Given the description of an element on the screen output the (x, y) to click on. 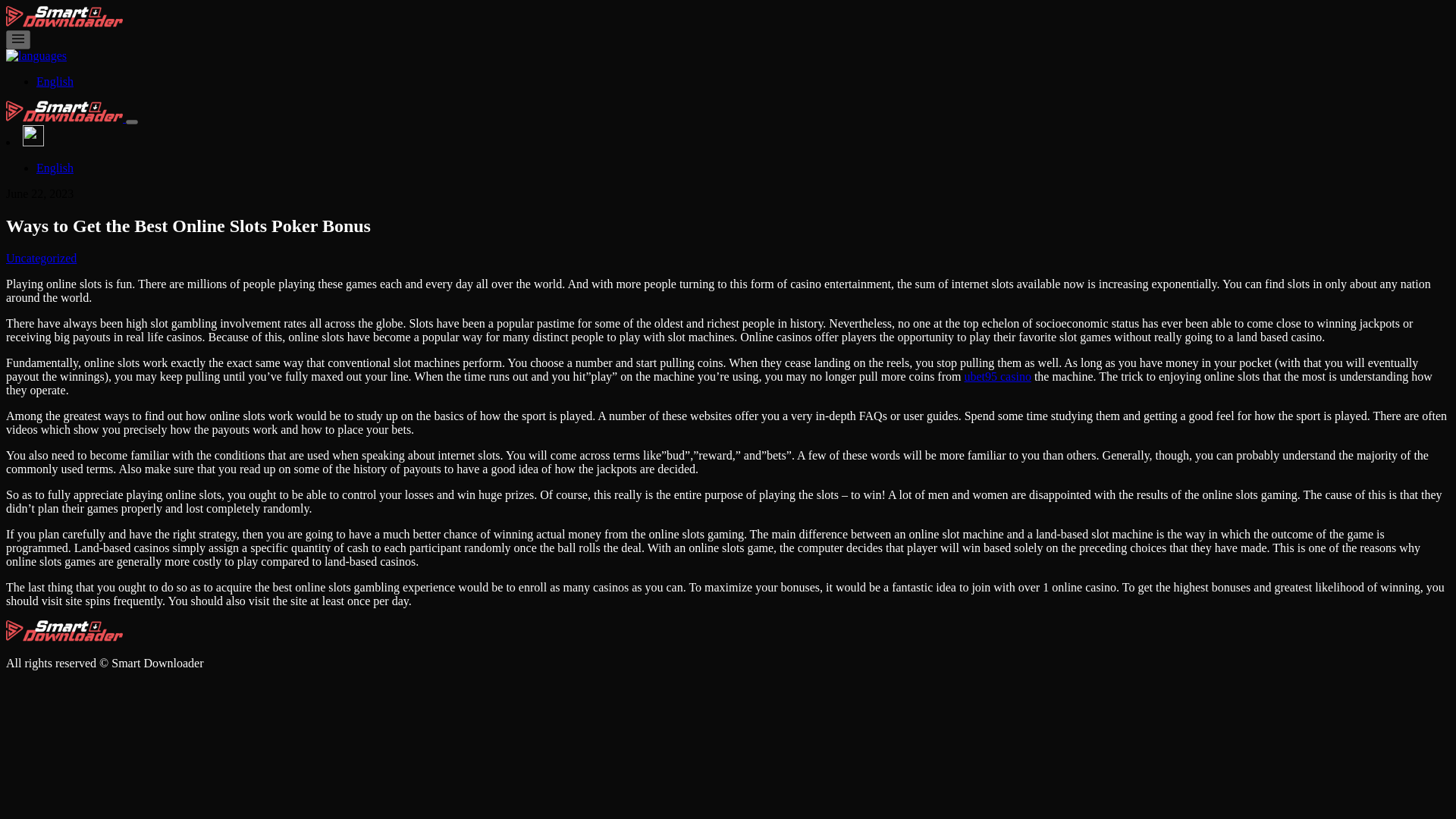
Mobile Menu (17, 38)
Mobile Menu (17, 39)
English (55, 81)
English (55, 167)
ubet95 casino (996, 376)
Uncategorized (41, 257)
